Given the description of an element on the screen output the (x, y) to click on. 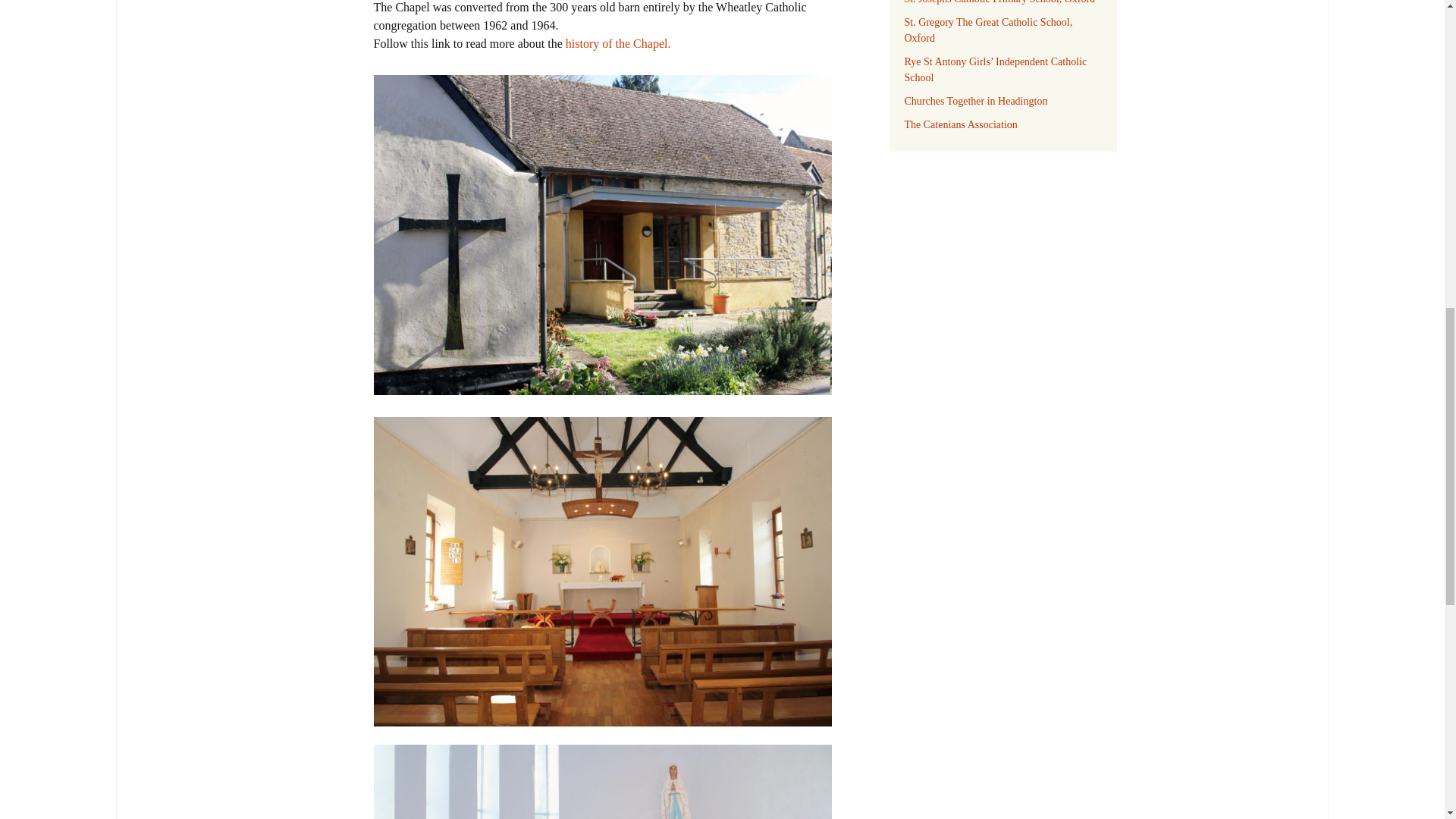
St. Josephs Catholic Primary School, Oxford (999, 2)
history of the Chapel. (618, 42)
St. Gregory The Great Catholic School, Oxford (987, 30)
